Given the description of an element on the screen output the (x, y) to click on. 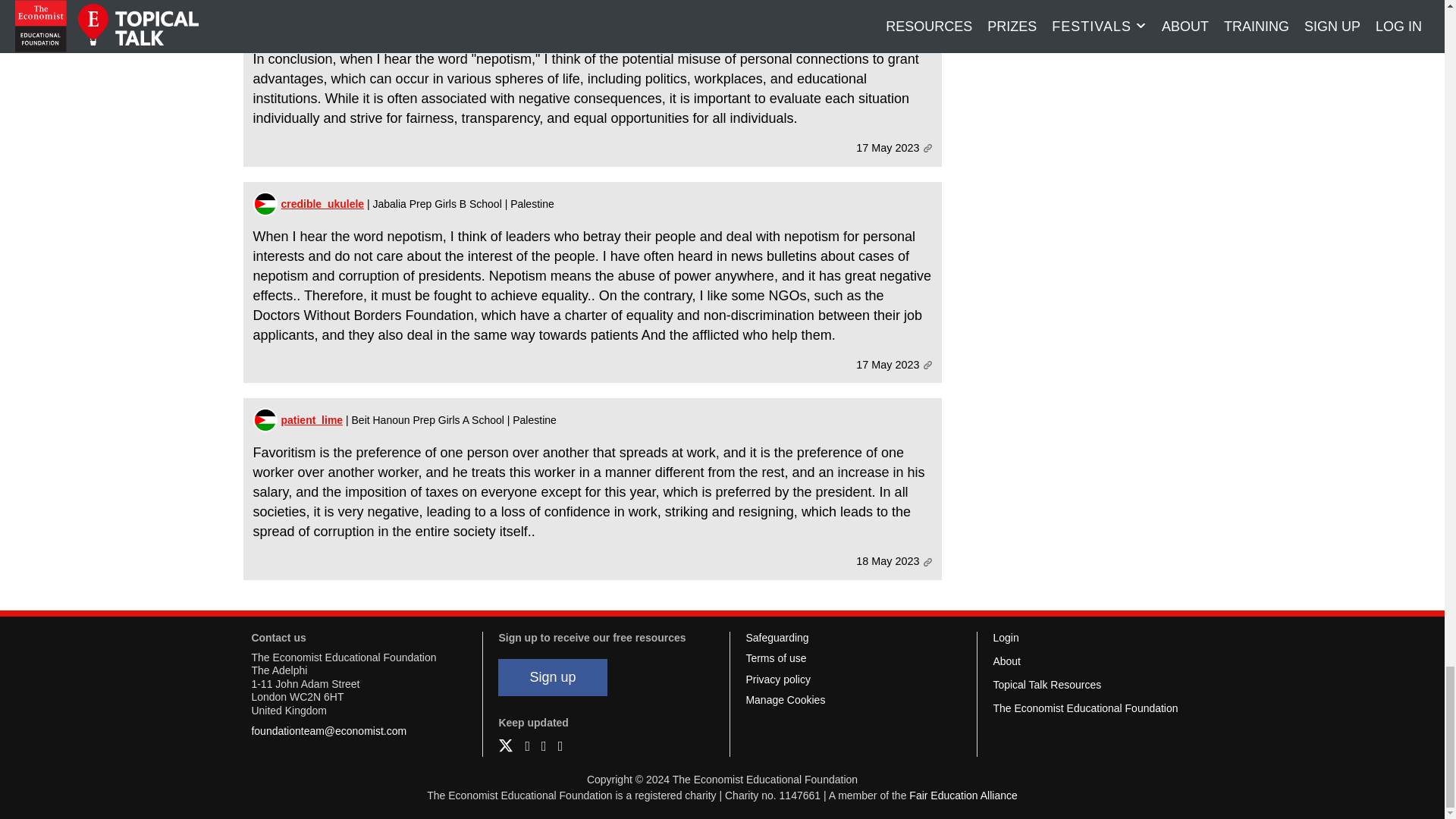
Copy URL to clipboard (927, 148)
Copy URL to clipboard (927, 561)
Copy URL to clipboard (927, 365)
